Given the description of an element on the screen output the (x, y) to click on. 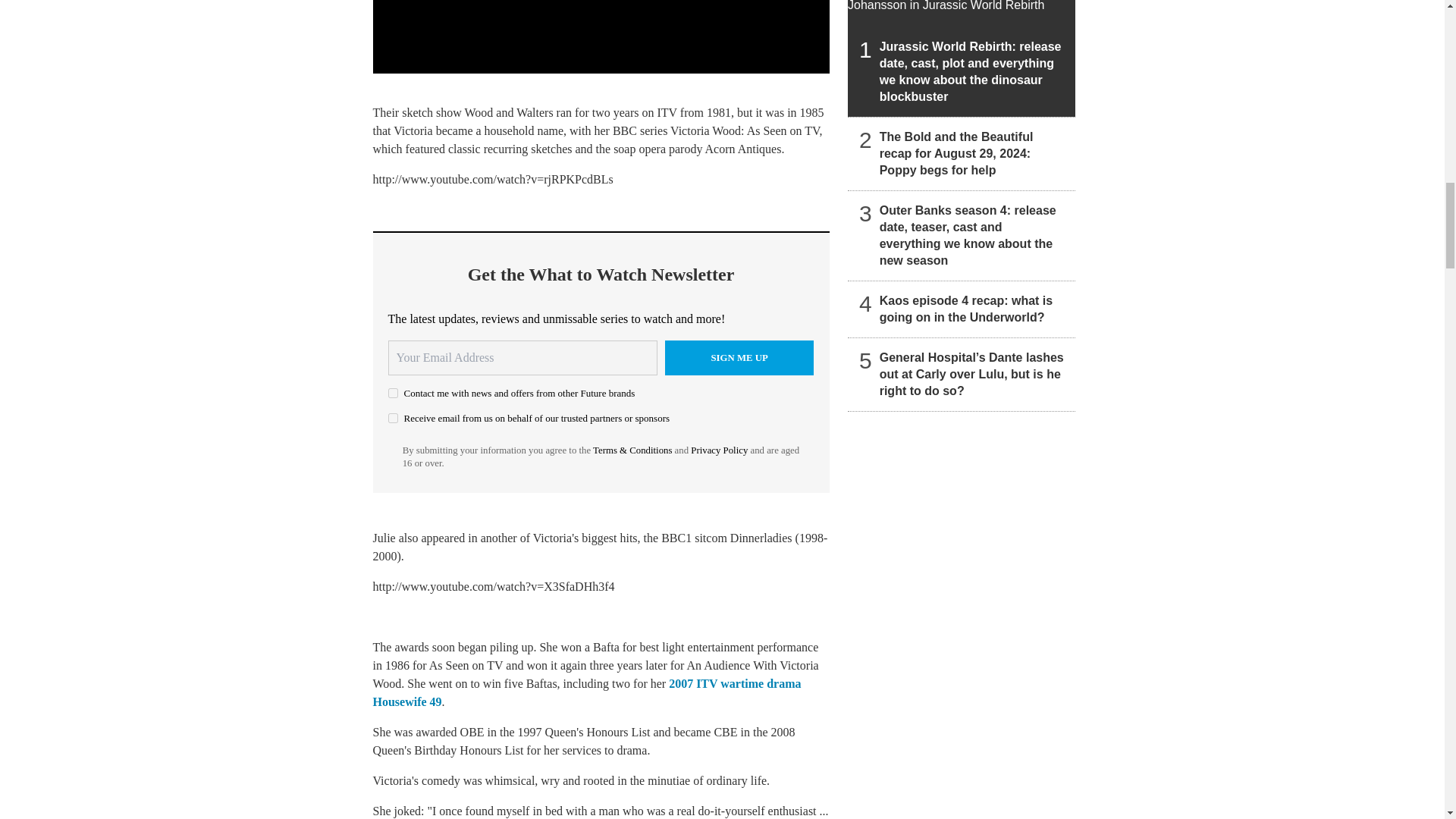
on (392, 393)
Sign me up (739, 357)
on (392, 418)
